Given the description of an element on the screen output the (x, y) to click on. 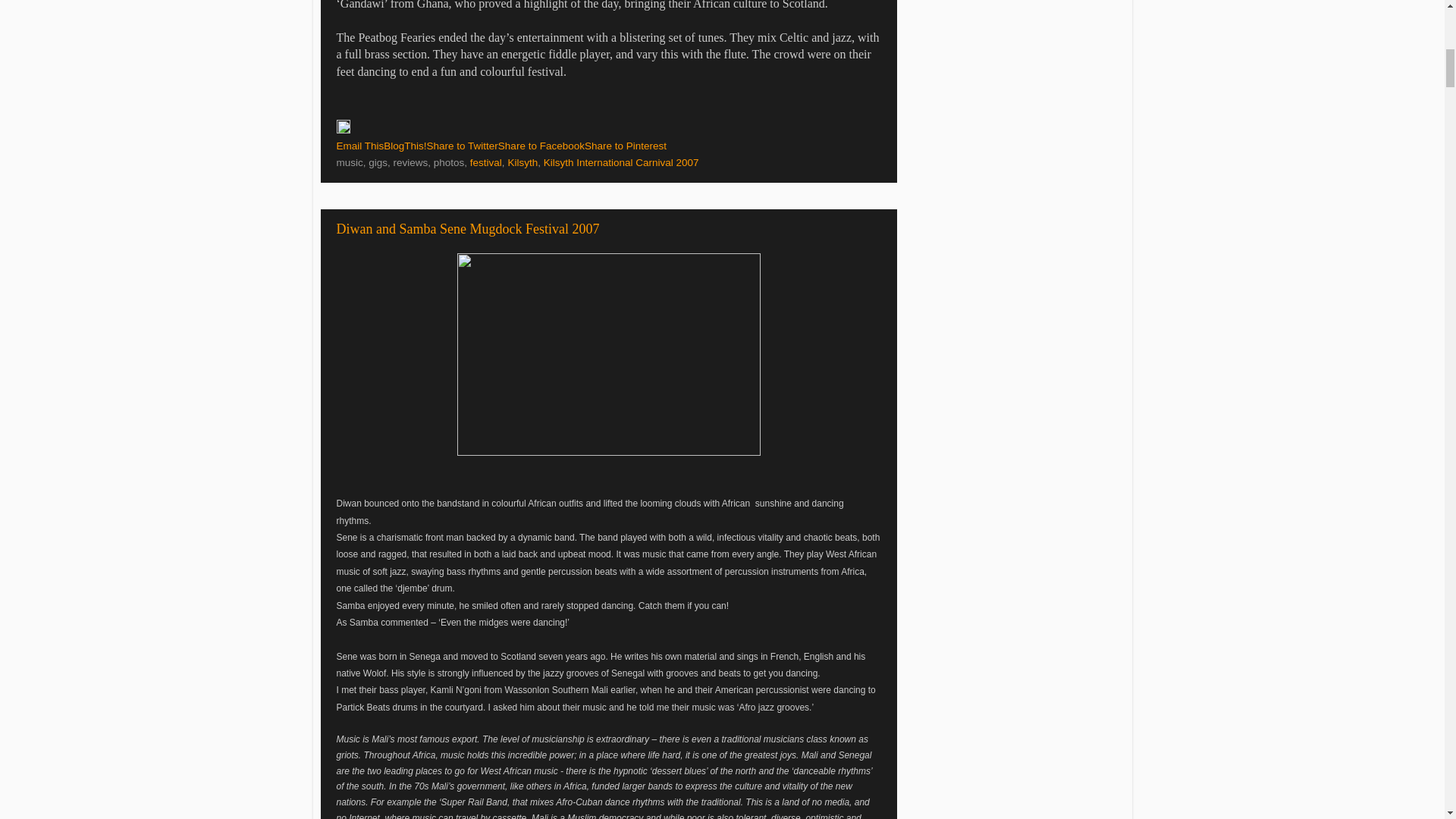
Kilsyth International Carnival 2007 (620, 162)
Share to Facebook (541, 145)
Kilsyth (521, 162)
festival (486, 162)
BlogThis! (405, 145)
Share to Pinterest (625, 145)
Share to Twitter (461, 145)
BlogThis! (405, 145)
Diwan and Samba Sene Mugdock Festival 2007 (467, 228)
Share to Pinterest (625, 145)
Email This (360, 145)
Share to Facebook (541, 145)
Share to Twitter (461, 145)
Email This (360, 145)
Edit Post (343, 129)
